Given the description of an element on the screen output the (x, y) to click on. 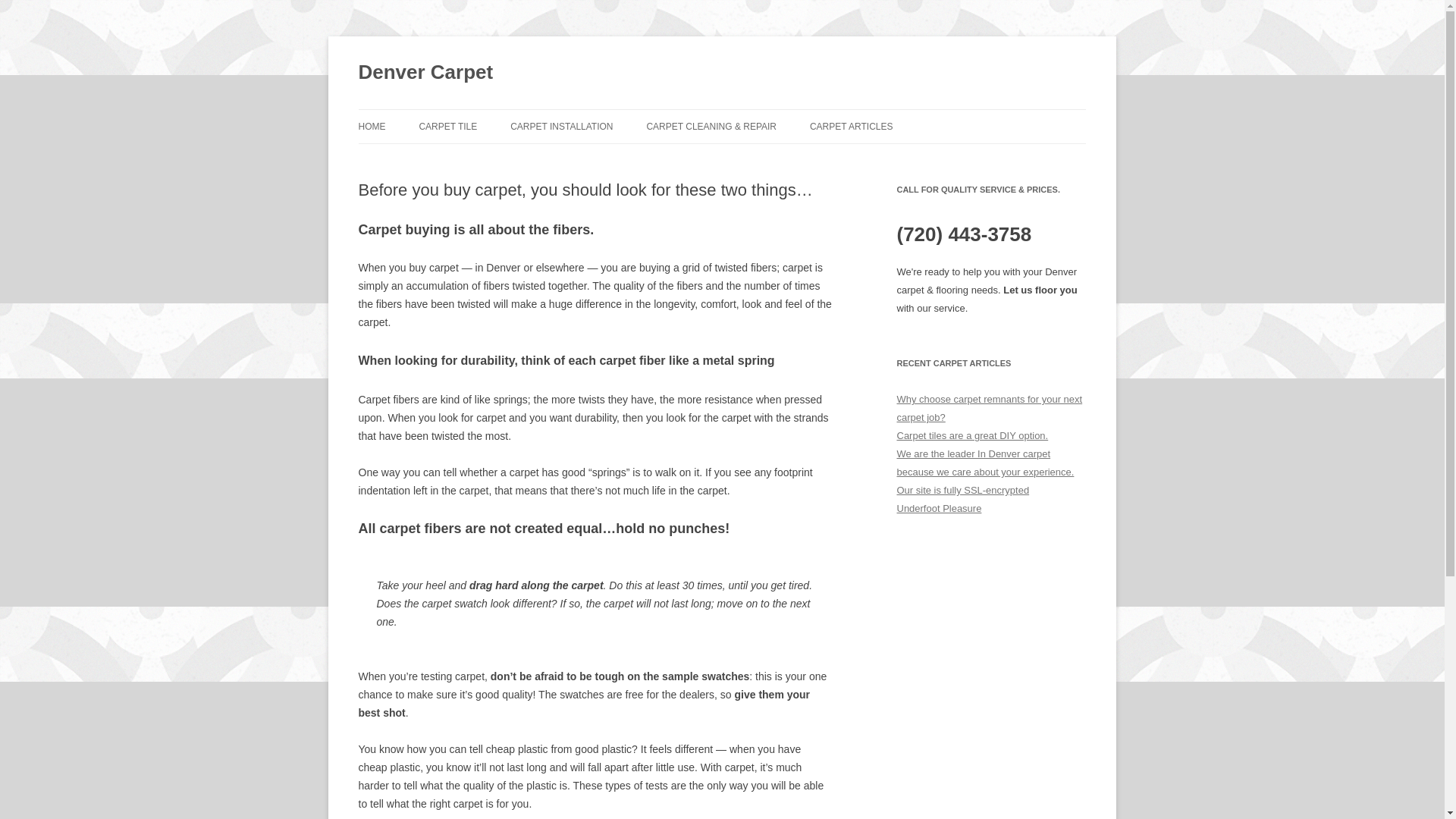
Denver Carpet (425, 72)
Why choose carpet remnants for your next carpet job? (988, 408)
CARPET ARTICLES (851, 126)
Denver Carpet Installation (561, 126)
Carpet tiles are a great DIY option. (972, 435)
Underfoot Pleasure (938, 508)
Denver Carpet (425, 72)
Denver Carpet Cleaning (711, 126)
